Given the description of an element on the screen output the (x, y) to click on. 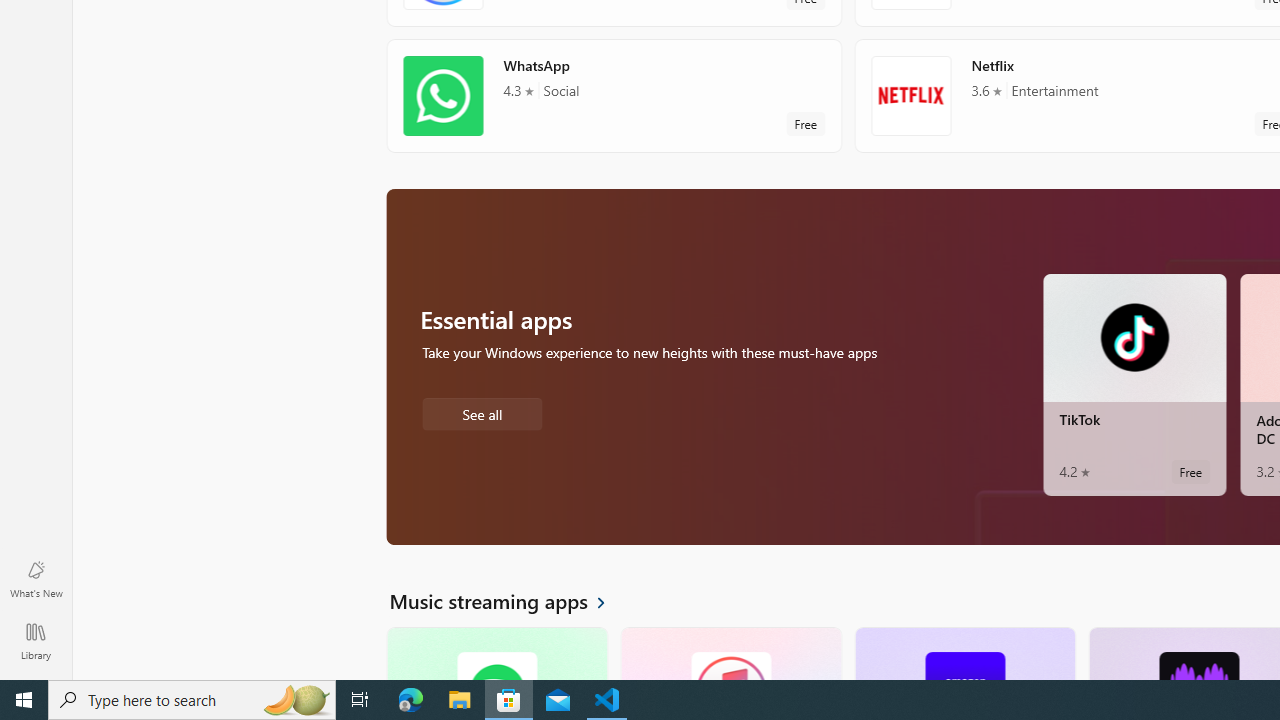
iTunes. Average rating of 2.5 out of five stars. Free   (730, 653)
See all  Essential apps (481, 412)
What's New (35, 578)
WhatsApp. Average rating of 4.3 out of five stars. Free   (614, 95)
TikTok. Average rating of 4.2 out of five stars. Free   (1134, 384)
Library (35, 640)
See all  Music streaming apps (509, 600)
